Given the description of an element on the screen output the (x, y) to click on. 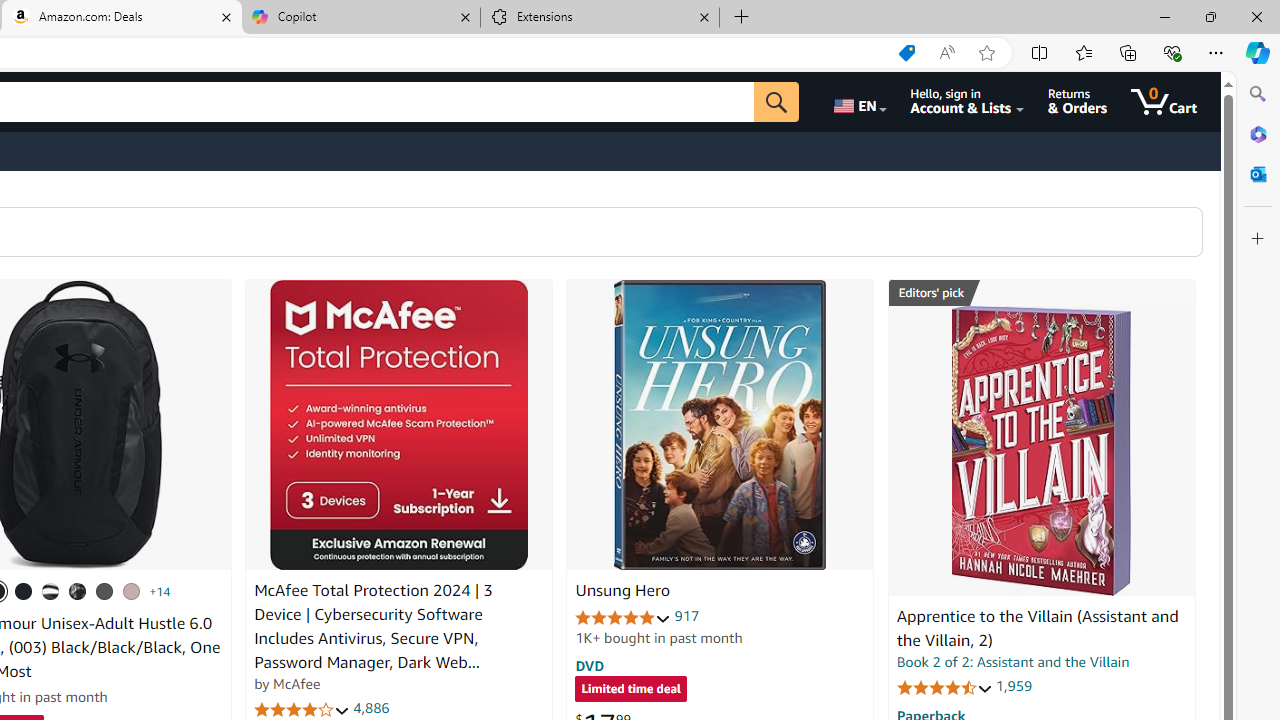
4.1 out of 5 stars (301, 709)
Extensions (600, 17)
Go (776, 101)
Shopping in Microsoft Edge (906, 53)
Unsung Hero (622, 591)
Hello, sign in Account & Lists (967, 101)
Editors' pick Best Science Fiction & Fantasy (1041, 293)
DVD (589, 665)
Returns & Orders (1077, 101)
4.9 out of 5 stars (623, 616)
